Given the description of an element on the screen output the (x, y) to click on. 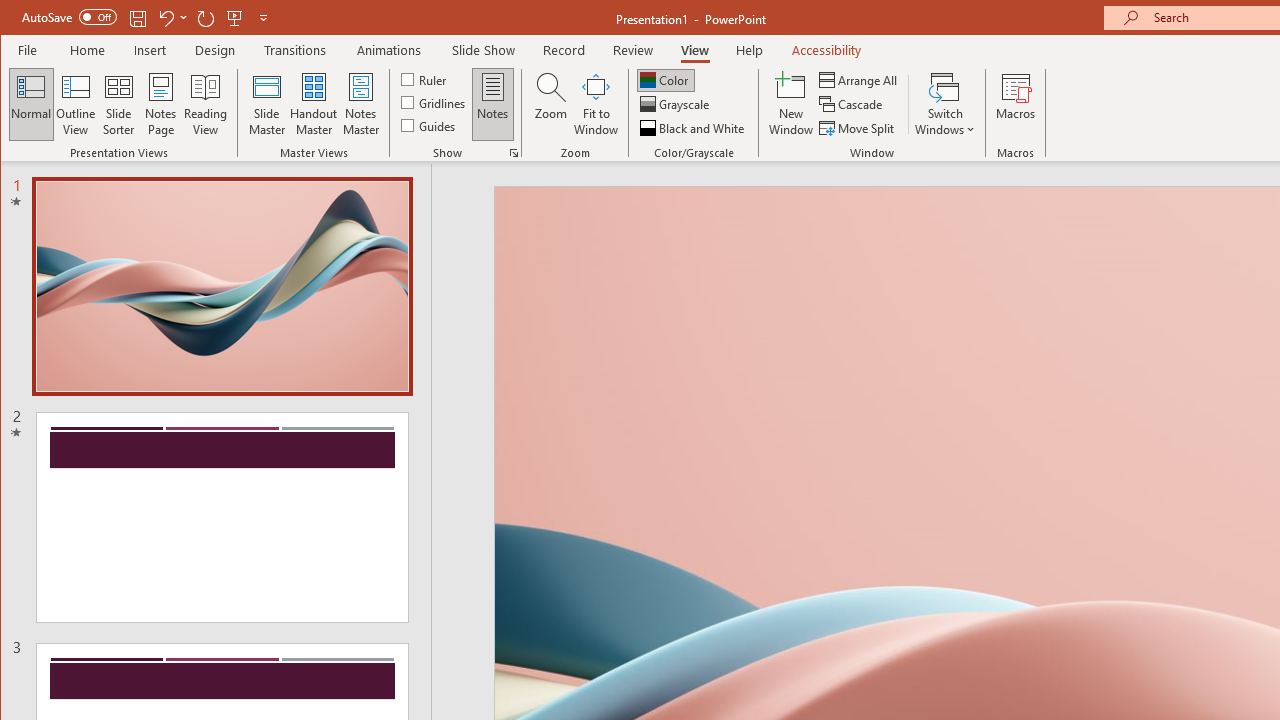
Cascade (852, 103)
Ruler (425, 78)
Switch Windows (944, 104)
Guides (430, 124)
